Given the description of an element on the screen output the (x, y) to click on. 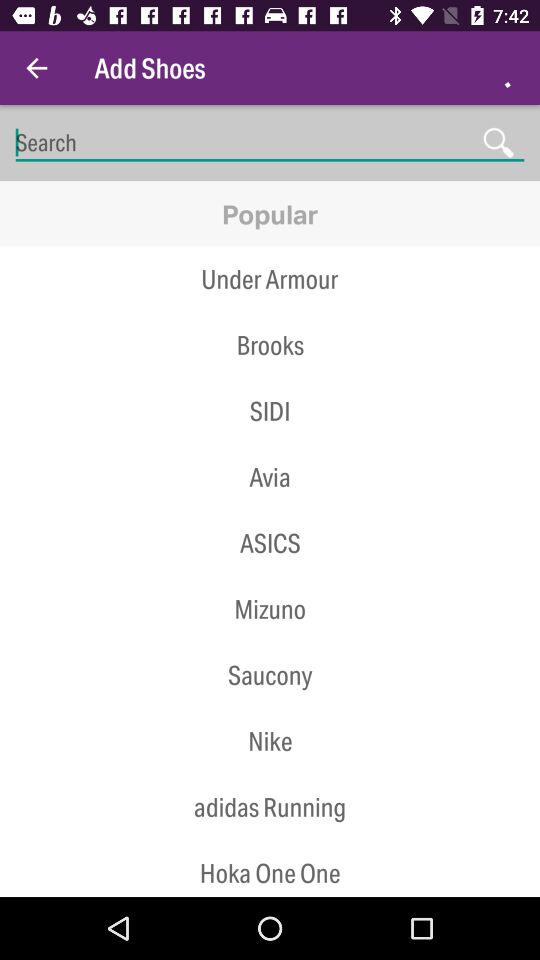
press the icon below the nike item (270, 807)
